Given the description of an element on the screen output the (x, y) to click on. 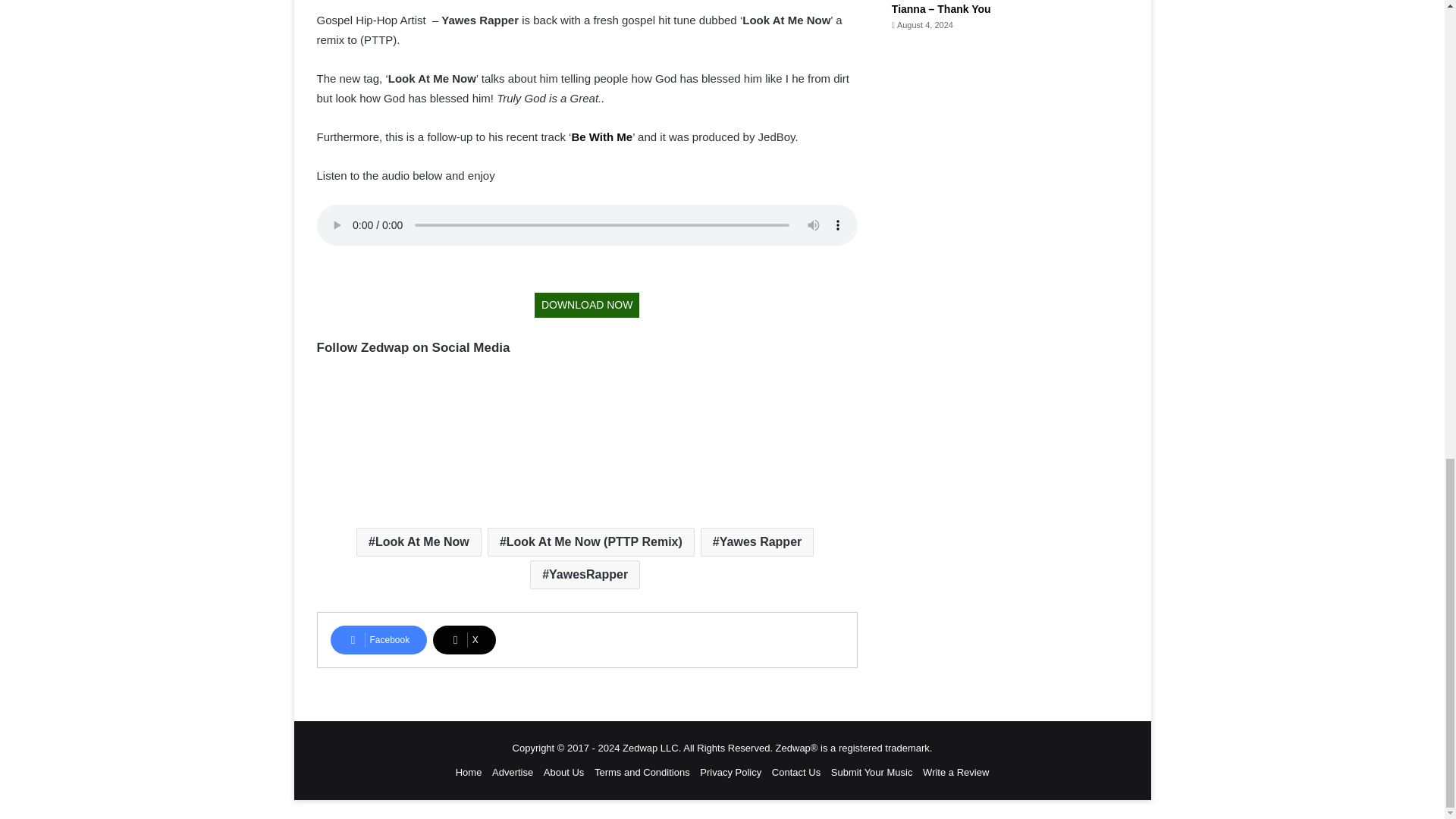
DOWNLOAD NOW (587, 304)
Facebook (379, 639)
Be With Me (600, 136)
X (464, 639)
